Given the description of an element on the screen output the (x, y) to click on. 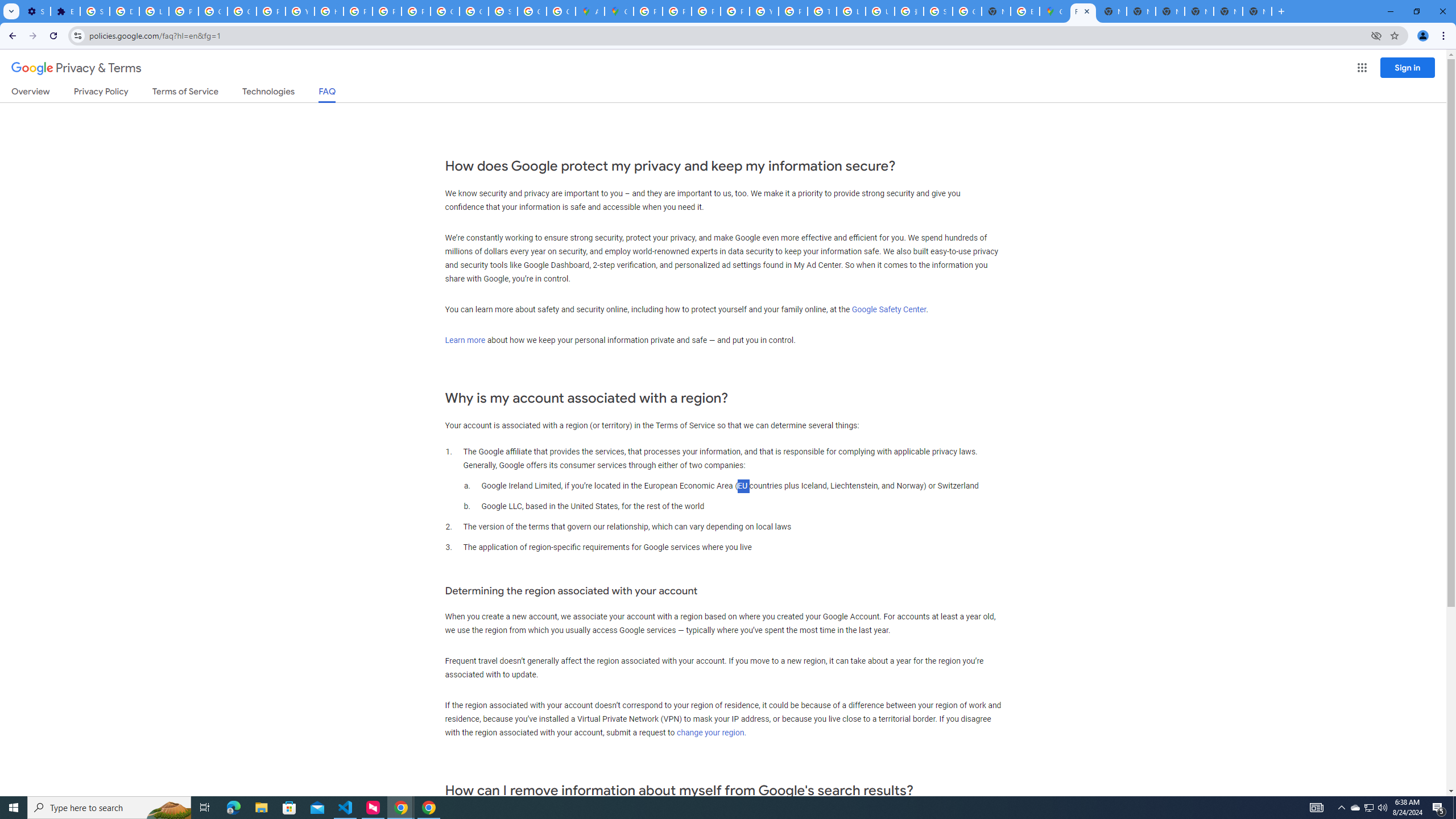
Tips & tricks for Chrome - Google Chrome Help (821, 11)
Create your Google Account (560, 11)
Google Safety Center (888, 309)
https://scholar.google.com/ (327, 11)
Policy Accountability and Transparency - Transparency Center (648, 11)
